Given the description of an element on the screen output the (x, y) to click on. 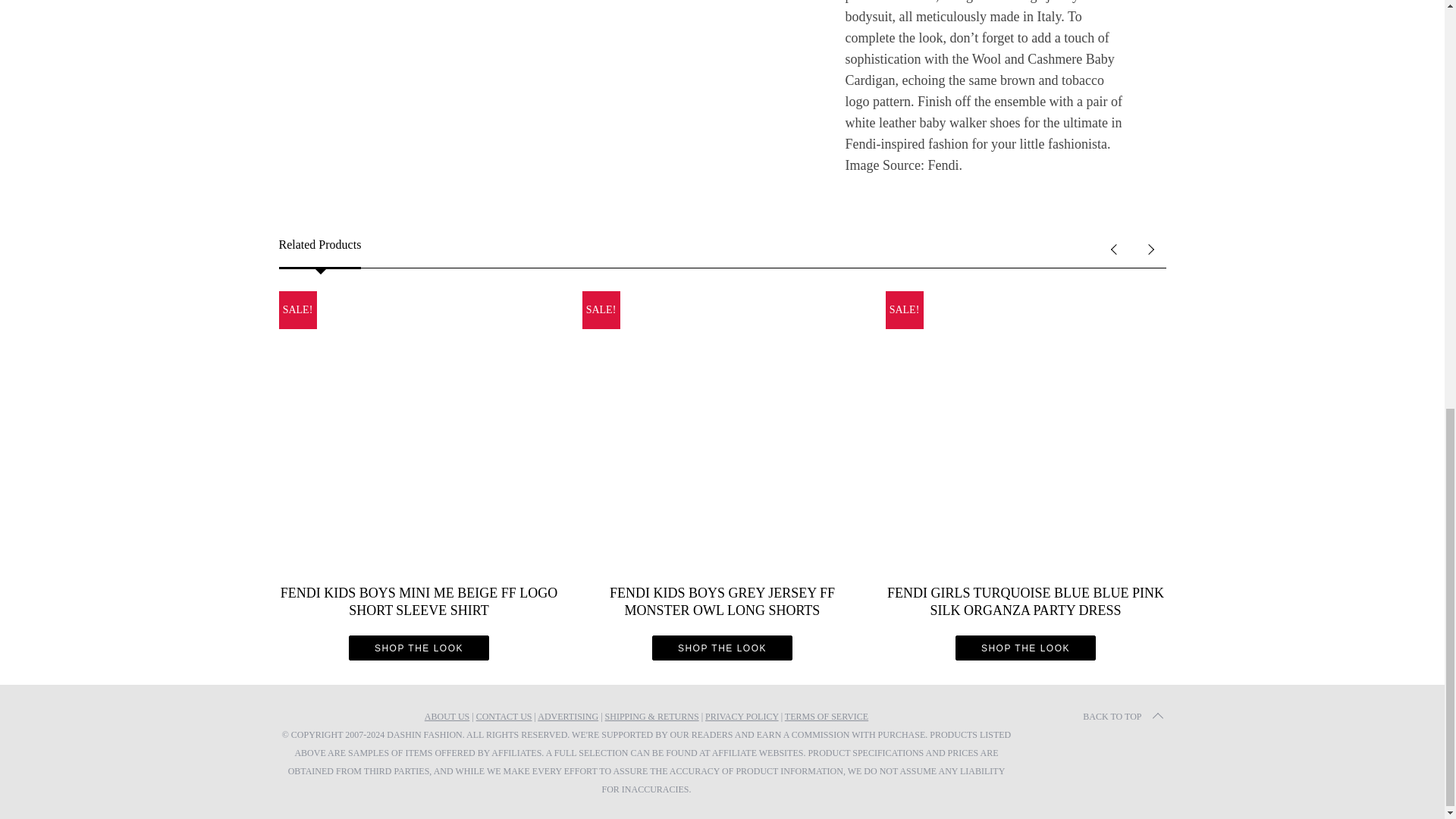
Fendi Kids Baby Brown Patchwork Sweater Knit Cashmere (532, 87)
